Given the description of an element on the screen output the (x, y) to click on. 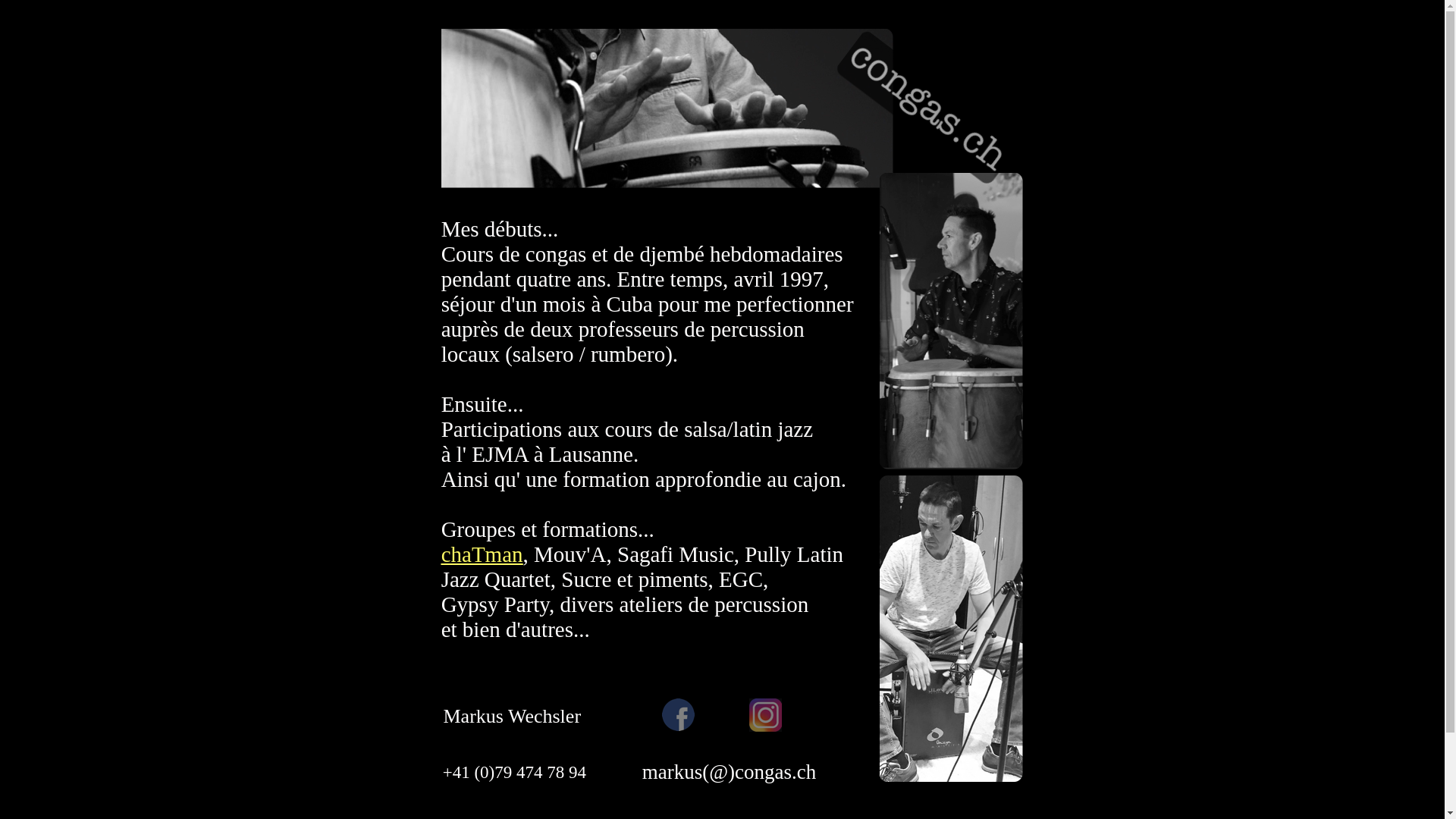
chaTman Element type: text (482, 554)
